Given the description of an element on the screen output the (x, y) to click on. 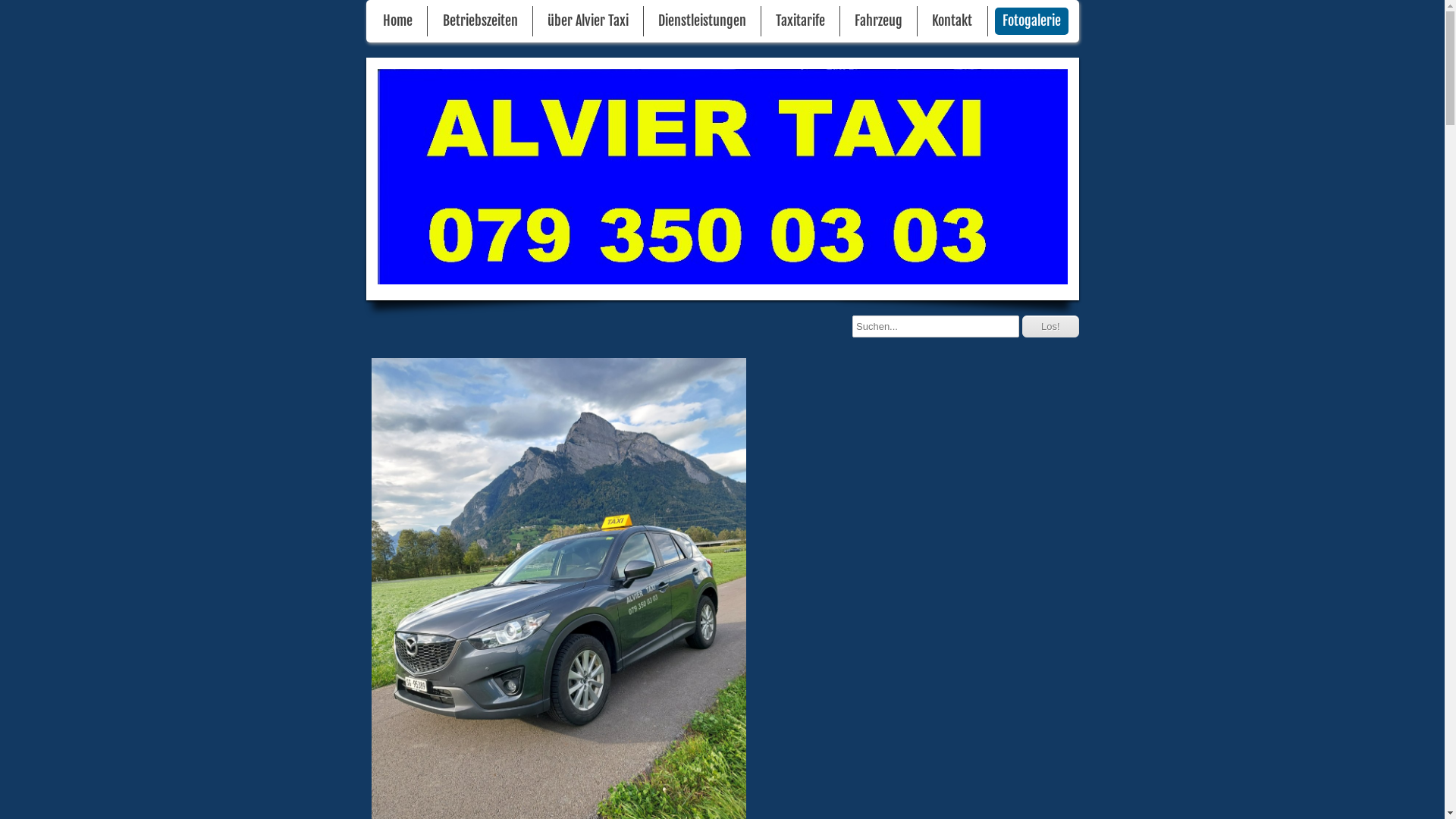
Dienstleistungen Element type: text (701, 20)
Home Element type: text (397, 20)
Fahrzeug Element type: text (878, 20)
Betriebszeiten Element type: text (480, 20)
Los! Element type: text (1050, 326)
Taxitarife Element type: text (800, 20)
Fotogalerie Element type: text (1031, 20)
Kontakt Element type: text (951, 20)
